Given the description of an element on the screen output the (x, y) to click on. 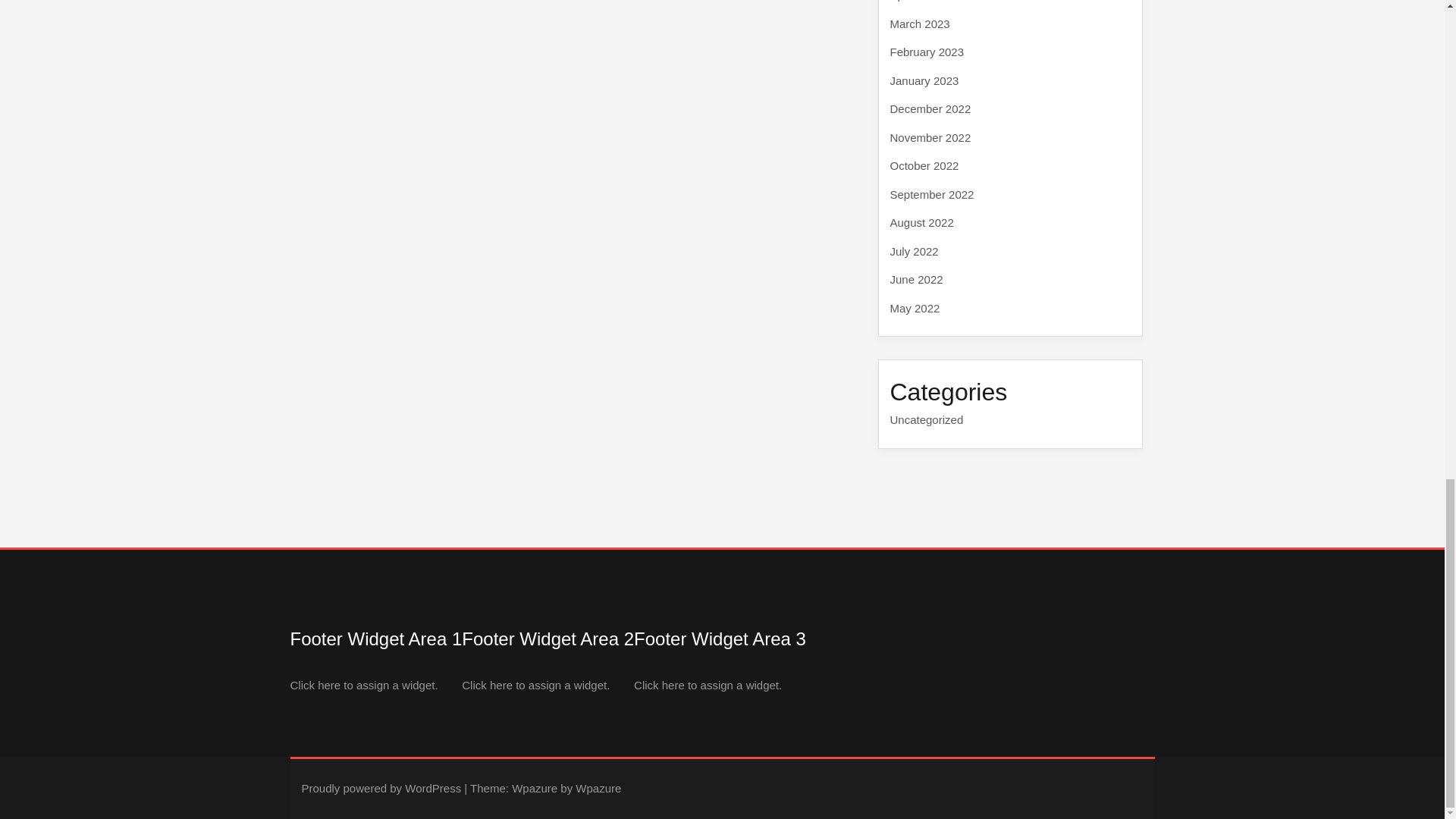
February 2023 (926, 51)
December 2022 (930, 108)
January 2023 (924, 79)
April 2023 (915, 0)
March 2023 (919, 23)
